Given the description of an element on the screen output the (x, y) to click on. 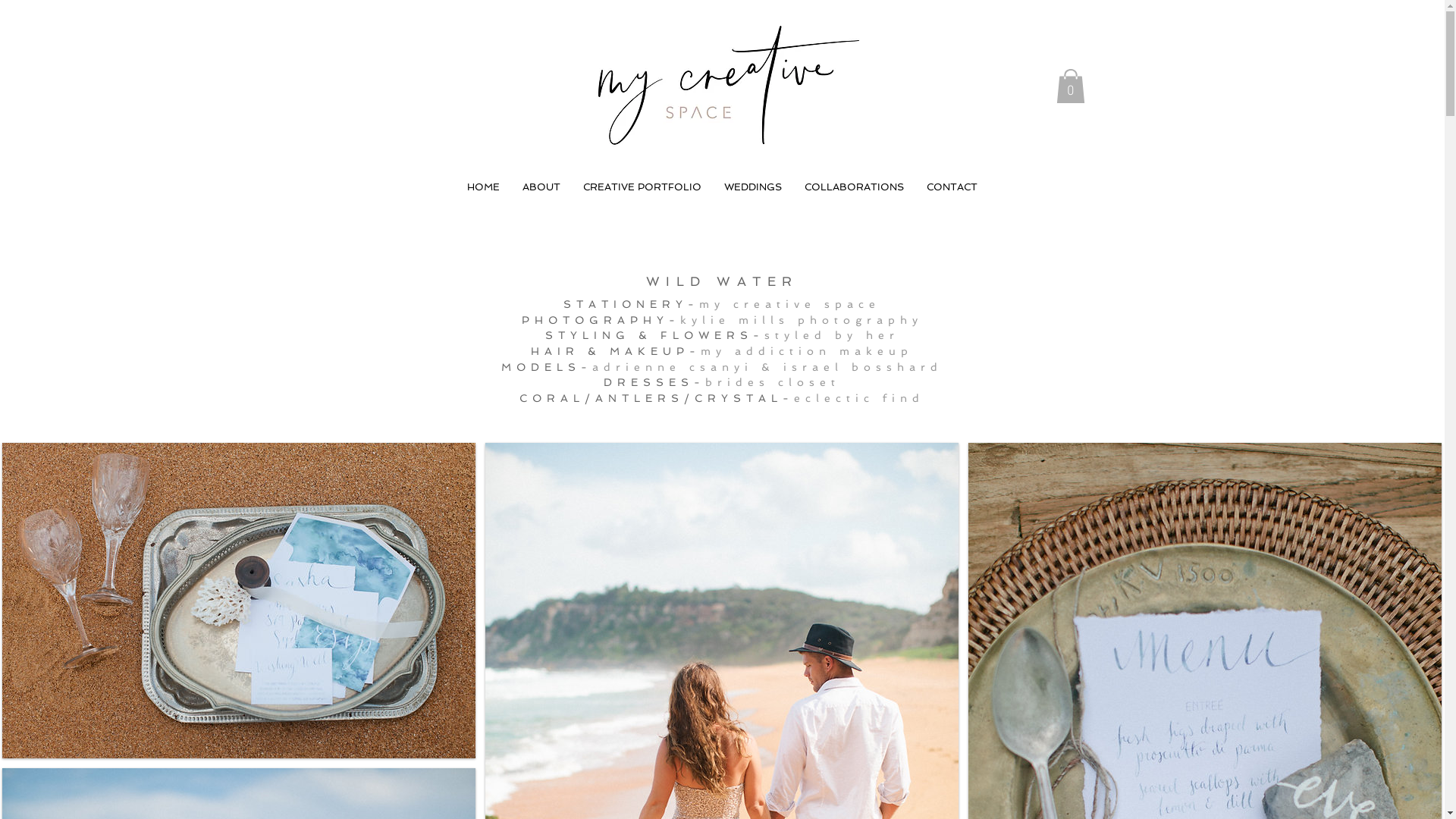
WEDDINGS Element type: text (752, 186)
mcs-grey.png Element type: hover (720, 85)
CONTACT Element type: text (951, 186)
kylie mills photography Element type: text (800, 319)
COLLABORATIONS Element type: text (854, 186)
styled by her Element type: text (831, 335)
HOME Element type: text (483, 186)
eclectic find Element type: text (858, 398)
my addiction makeup Element type: text (806, 351)
brides closet Element type: text (772, 382)
CREATIVE PORTFOLIO Element type: text (641, 186)
ABOUT Element type: text (541, 186)
0 Element type: text (1069, 86)
